Given the description of an element on the screen output the (x, y) to click on. 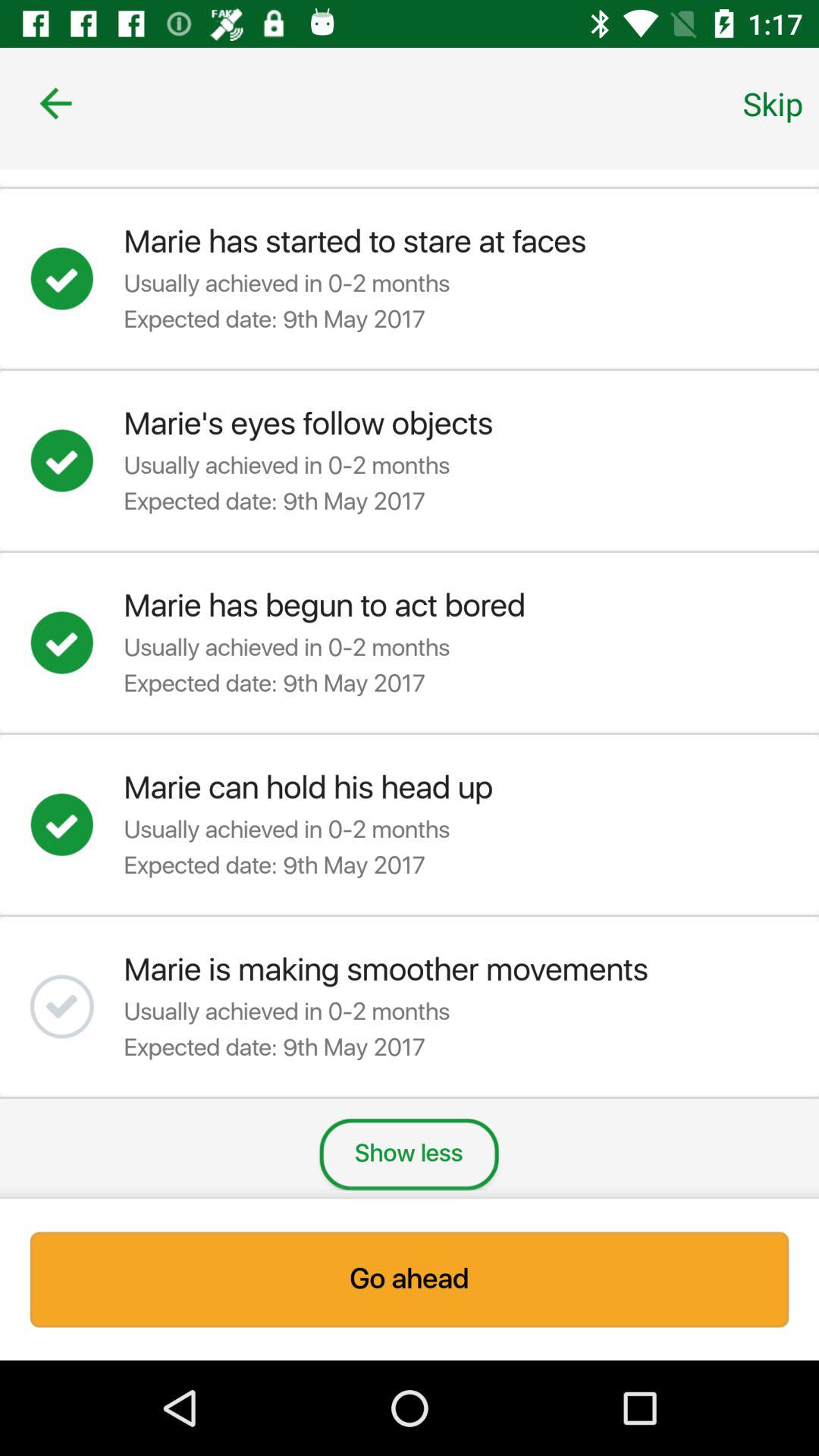
done (76, 642)
